Given the description of an element on the screen output the (x, y) to click on. 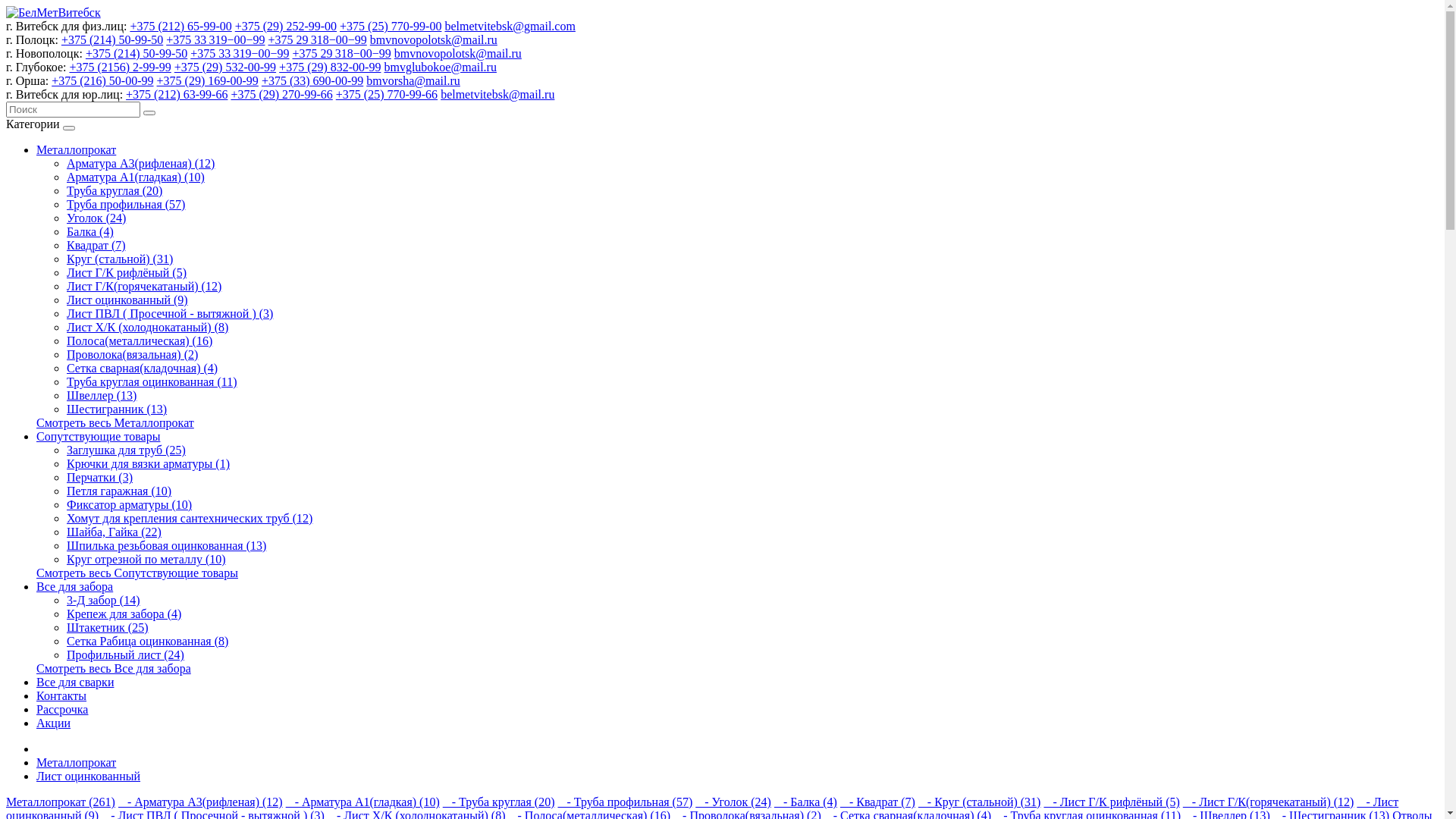
+375 (216) 50-00-99 Element type: text (102, 80)
+375 (29) 270-99-66 Element type: text (281, 93)
+375 (33) 690-00-99 Element type: text (312, 80)
bmvglubokoe@mail.ru Element type: text (439, 66)
belmetvitebsk@mail.ru Element type: text (497, 93)
bmvorsha@mail.ru Element type: text (413, 80)
+375 (212) 65-99-00 Element type: text (180, 25)
+375 (212) 63-99-66 Element type: text (176, 93)
+375 (25) 770-99-66 Element type: text (386, 93)
bmvnovopolotsk@mail.ru Element type: text (457, 53)
+375 (214) 50-99-50 Element type: text (136, 53)
+375 (25) 770-99-00 Element type: text (390, 25)
+375 (29) 252-99-00 Element type: text (285, 25)
+375 (29) 169-00-99 Element type: text (207, 80)
belmetvitebsk@gmail.com Element type: text (509, 25)
bmvnovopolotsk@mail.ru Element type: text (433, 39)
+375 (214) 50-99-50 Element type: text (112, 39)
+375 (29) 832-00-99 Element type: text (329, 66)
+375 (29) 532-00-99 Element type: text (225, 66)
+375 (2156) 2-99-99 Element type: text (119, 66)
